Given the description of an element on the screen output the (x, y) to click on. 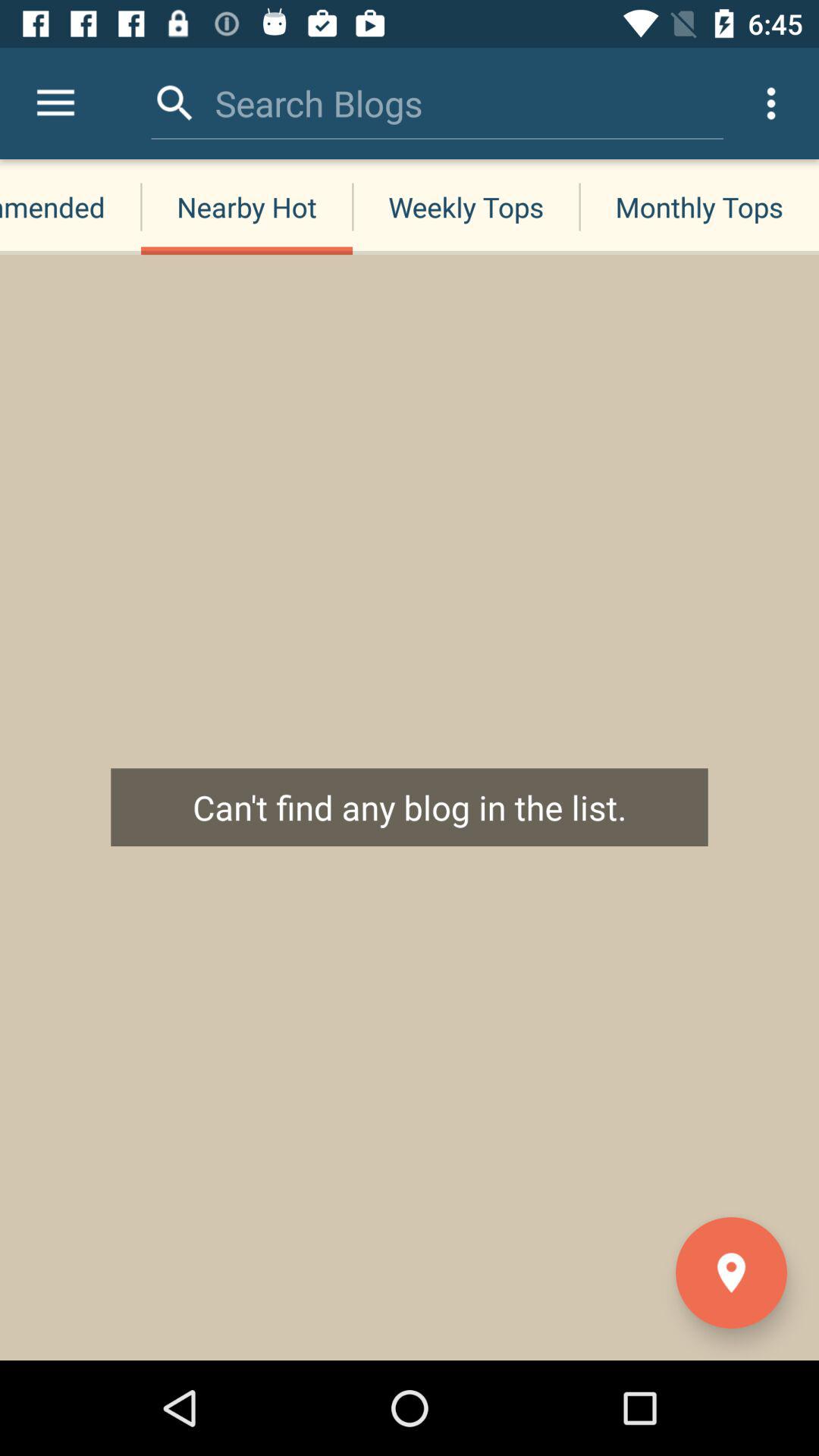
launch the icon to the left of nearby hot (55, 103)
